Given the description of an element on the screen output the (x, y) to click on. 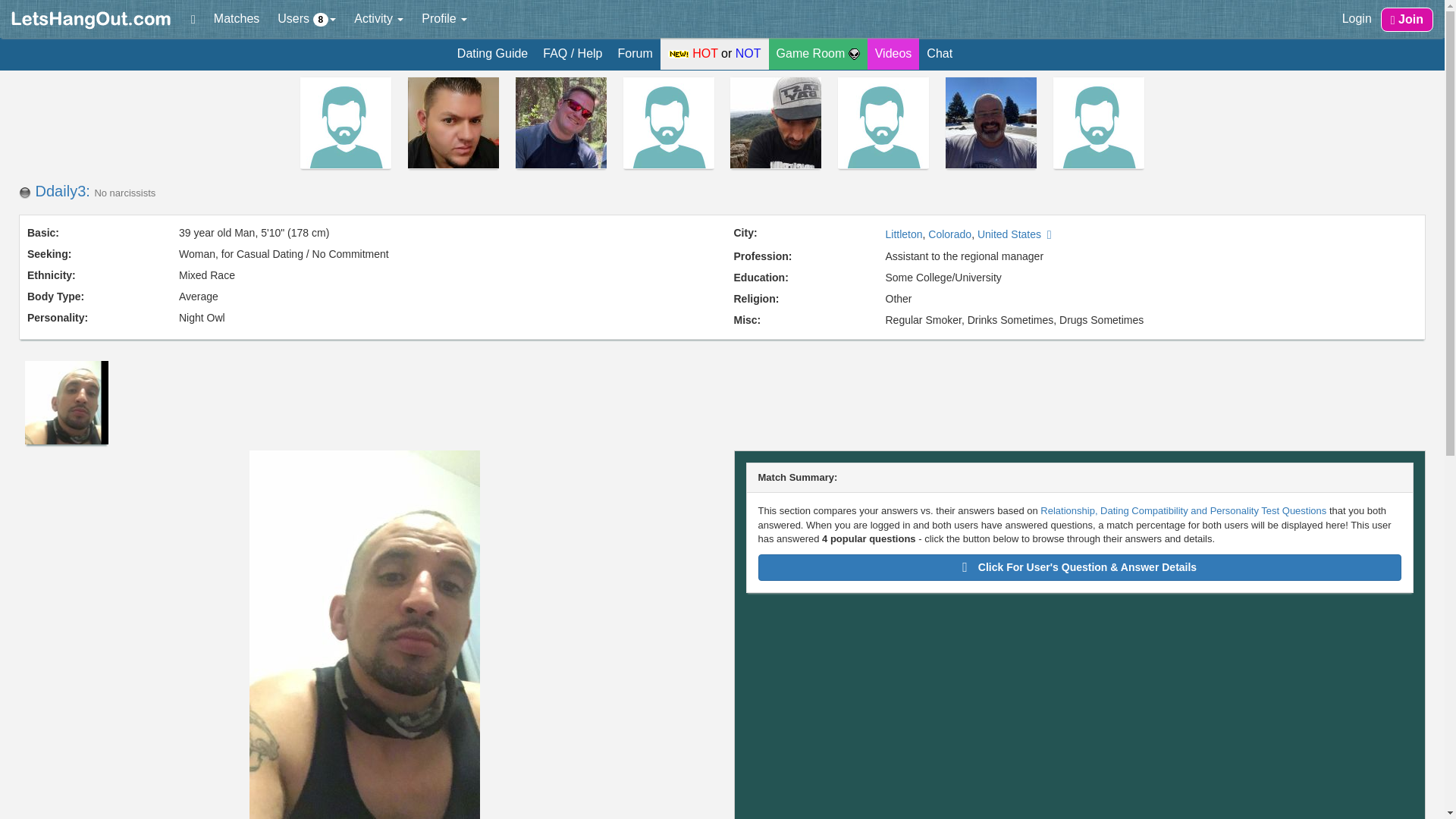
Join (1406, 19)
Login (1356, 18)
member is offline (24, 192)
Users 8 (306, 18)
Profile (444, 18)
Matches (236, 18)
Activity (378, 18)
